Given the description of an element on the screen output the (x, y) to click on. 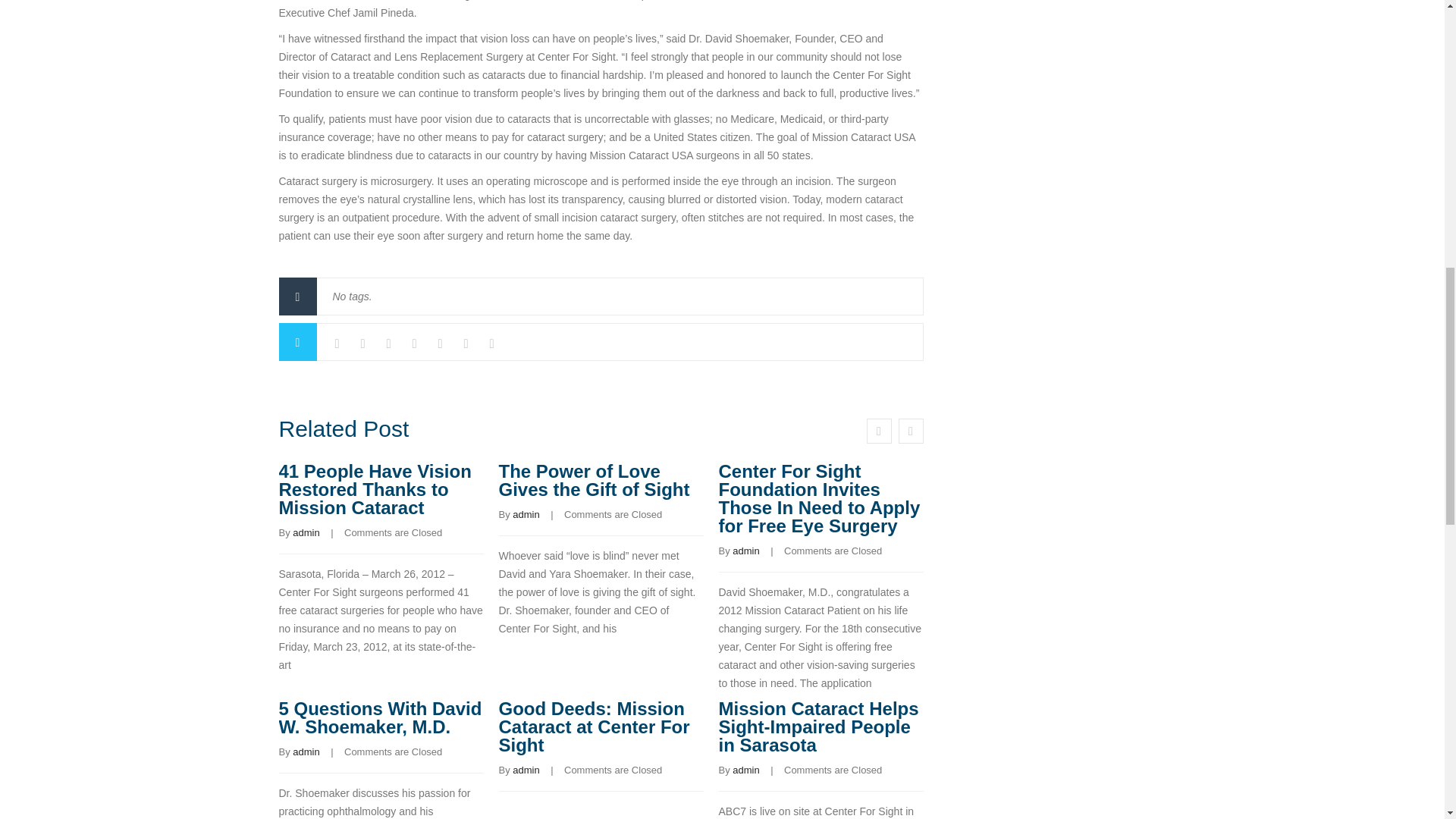
admin (525, 769)
5 Questions With David W. Shoemaker, M.D. (380, 717)
admin (525, 514)
Posts by admin (305, 532)
admin (745, 550)
41 People Have Vision Restored Thanks to Mission Cataract (375, 489)
Good Deeds: Mission Cataract at Center For Sight (594, 726)
Good Deeds: Mission Cataract at Center For Sight (594, 726)
The Power of Love Gives the Gift of Sight (594, 480)
admin (305, 751)
